Given the description of an element on the screen output the (x, y) to click on. 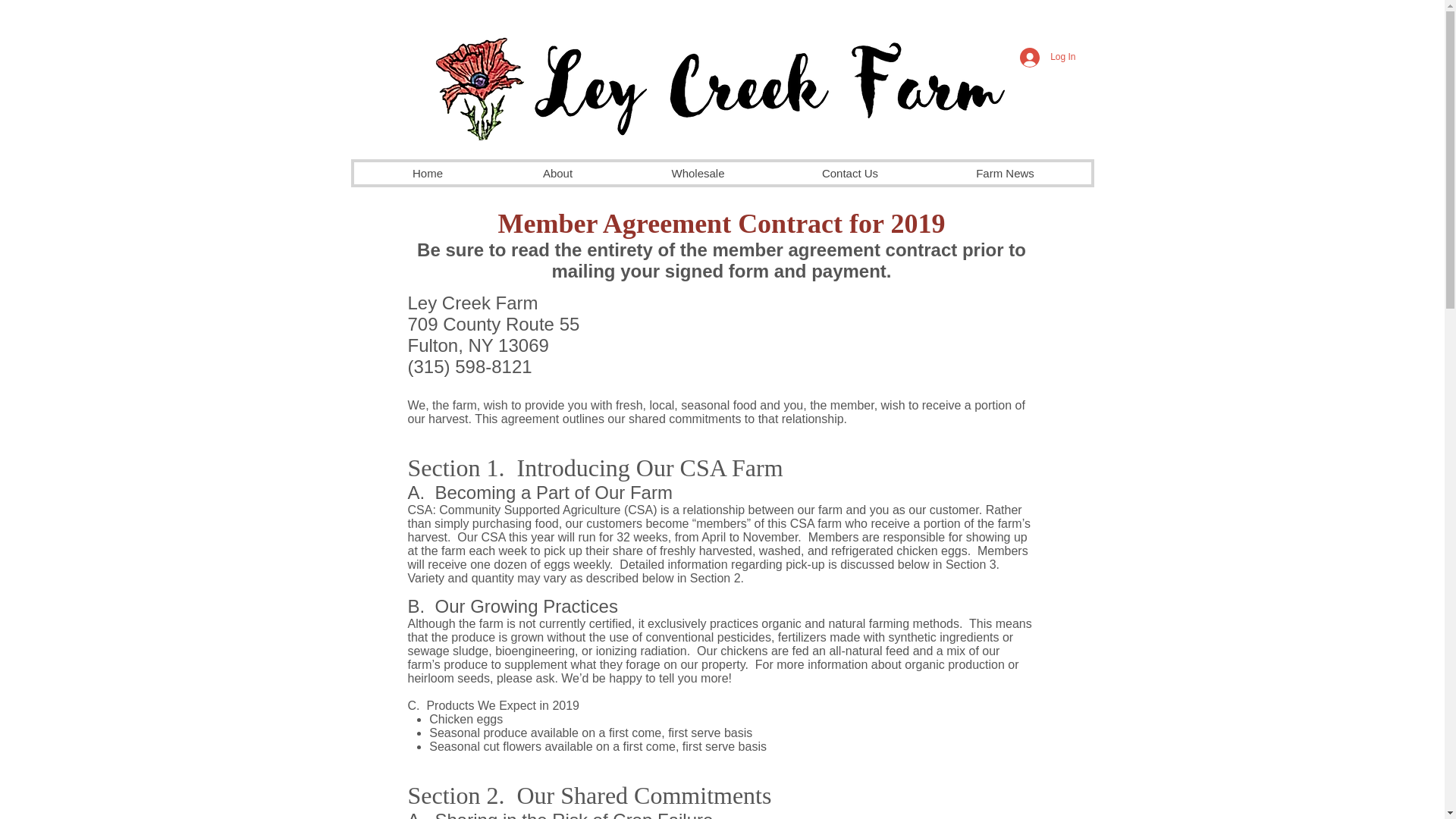
Contact Us (849, 172)
About (558, 172)
Farm News (1004, 172)
Wholesale (697, 172)
Home (427, 172)
Log In (1047, 57)
